Given the description of an element on the screen output the (x, y) to click on. 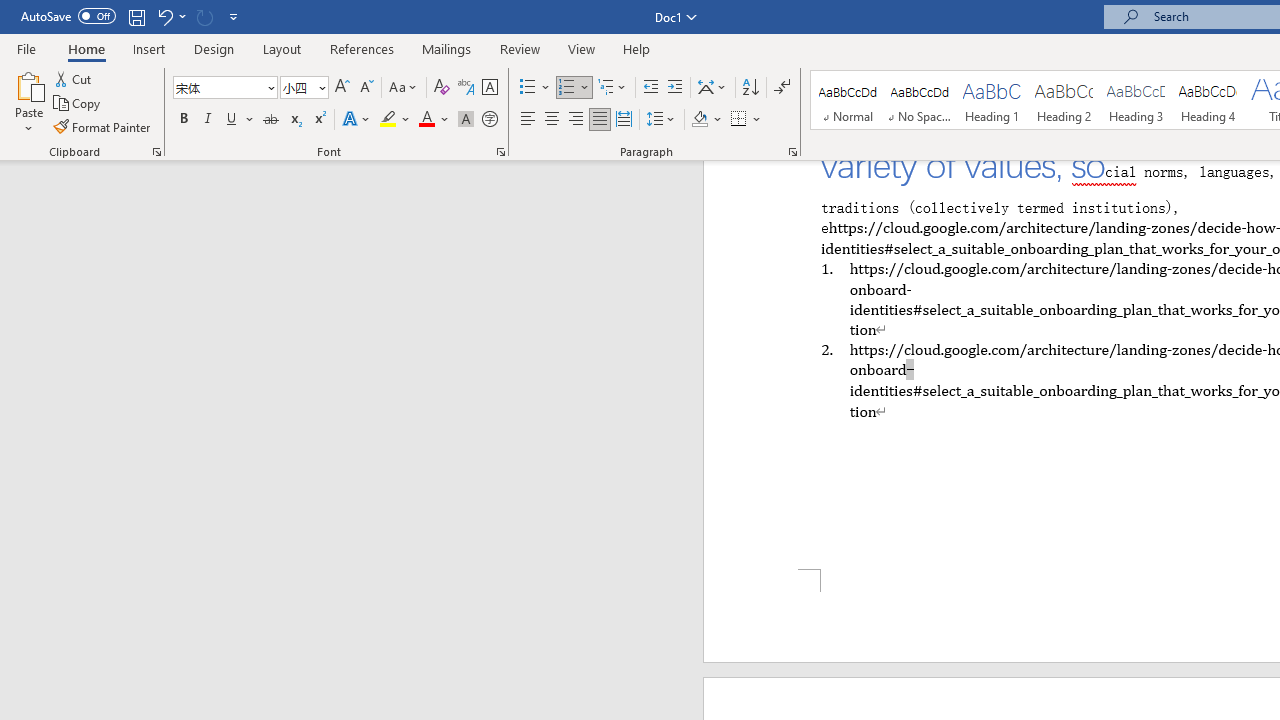
Cut (73, 78)
Align Left (527, 119)
Can't Repeat (204, 15)
Text Effects and Typography (357, 119)
Font Color Automatic (426, 119)
Text Highlight Color (395, 119)
Shading (706, 119)
Paragraph... (792, 151)
Strikethrough (270, 119)
